Given the description of an element on the screen output the (x, y) to click on. 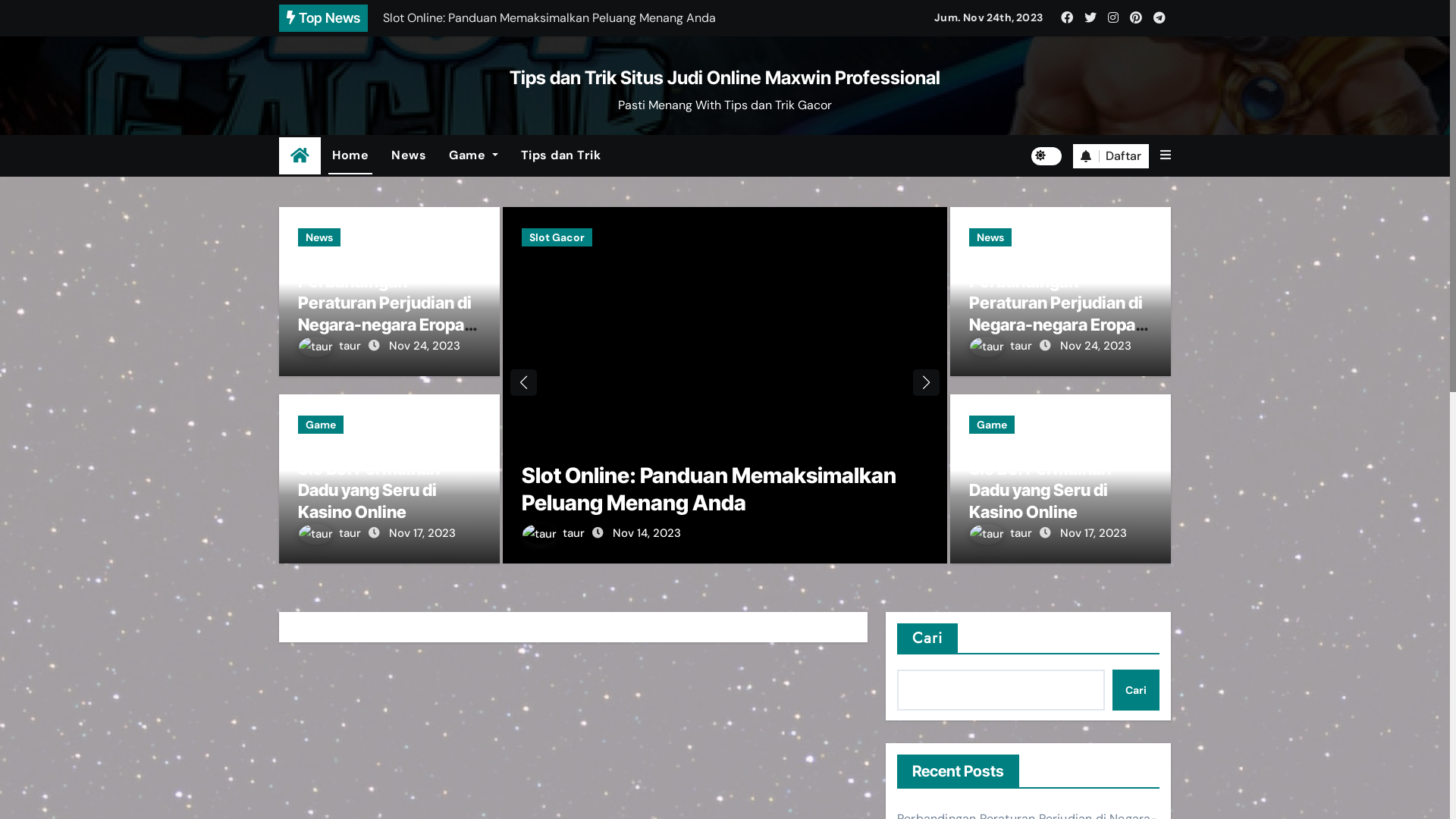
Nov 17, 2023 Element type: text (1093, 532)
Nov 24, 2023 Element type: text (424, 345)
Nov 24, 2023 Element type: text (1095, 345)
Nov 17, 2023 Element type: text (422, 532)
taur Element type: text (554, 532)
Game Element type: text (473, 155)
Nov 14, 2023 Element type: text (646, 532)
Daftar Element type: text (1110, 156)
News Element type: text (319, 237)
News Element type: text (990, 237)
Cari Element type: text (1135, 689)
Slot Online: Panduan Memaksimalkan Peluang Menang Anda Element type: text (708, 488)
Sic Bo: Permainan Dadu yang Seru di Kasino Online Element type: text (579, 18)
taur Element type: text (1002, 532)
taur Element type: text (331, 532)
taur Element type: text (331, 345)
Home Element type: hover (299, 155)
taur Element type: text (1002, 345)
Home Element type: text (349, 155)
Game Element type: text (320, 424)
Game Element type: text (991, 424)
Slot Gacor Element type: text (556, 237)
Sic Bo: Permainan Dadu yang Seru di Kasino Online Element type: text (368, 489)
Tips dan Trik Situs Judi Online Maxwin Professional Element type: text (724, 77)
Sic Bo: Permainan Dadu yang Seru di Kasino Online Element type: text (1039, 489)
News Element type: text (408, 155)
Tips dan Trik Element type: text (560, 155)
